Given the description of an element on the screen output the (x, y) to click on. 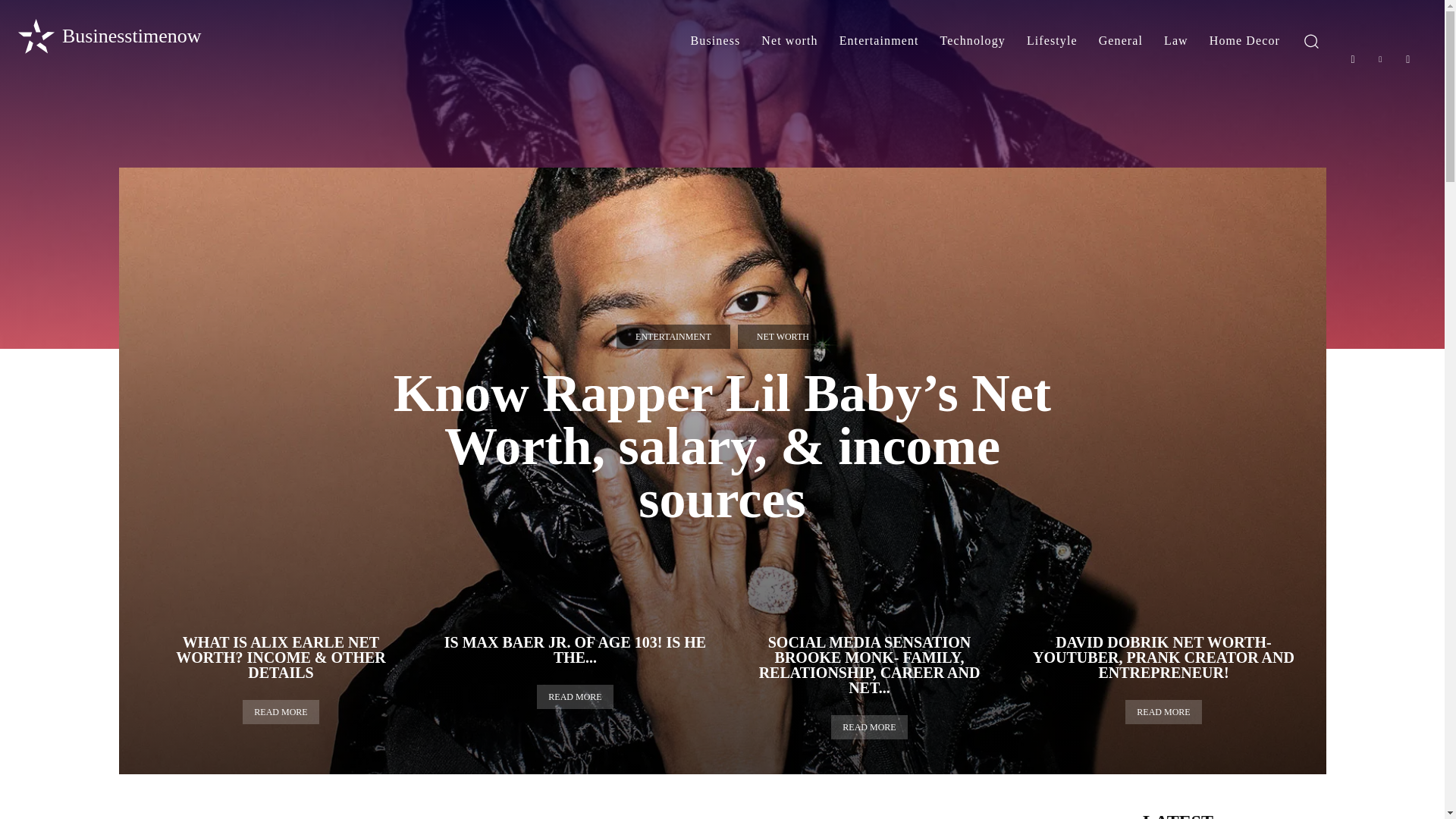
NET WORTH (783, 336)
Facebook (1353, 58)
Law (1175, 40)
Entertainment (879, 40)
Lifestyle (1051, 40)
Home Decor (1244, 40)
Businesstimenow (107, 36)
RSS (1408, 58)
Technology (973, 40)
Businesstimenow (107, 36)
Business (715, 40)
General (1120, 40)
ENTERTAINMENT (672, 336)
Linkedin (1380, 58)
Net worth (789, 40)
